Given the description of an element on the screen output the (x, y) to click on. 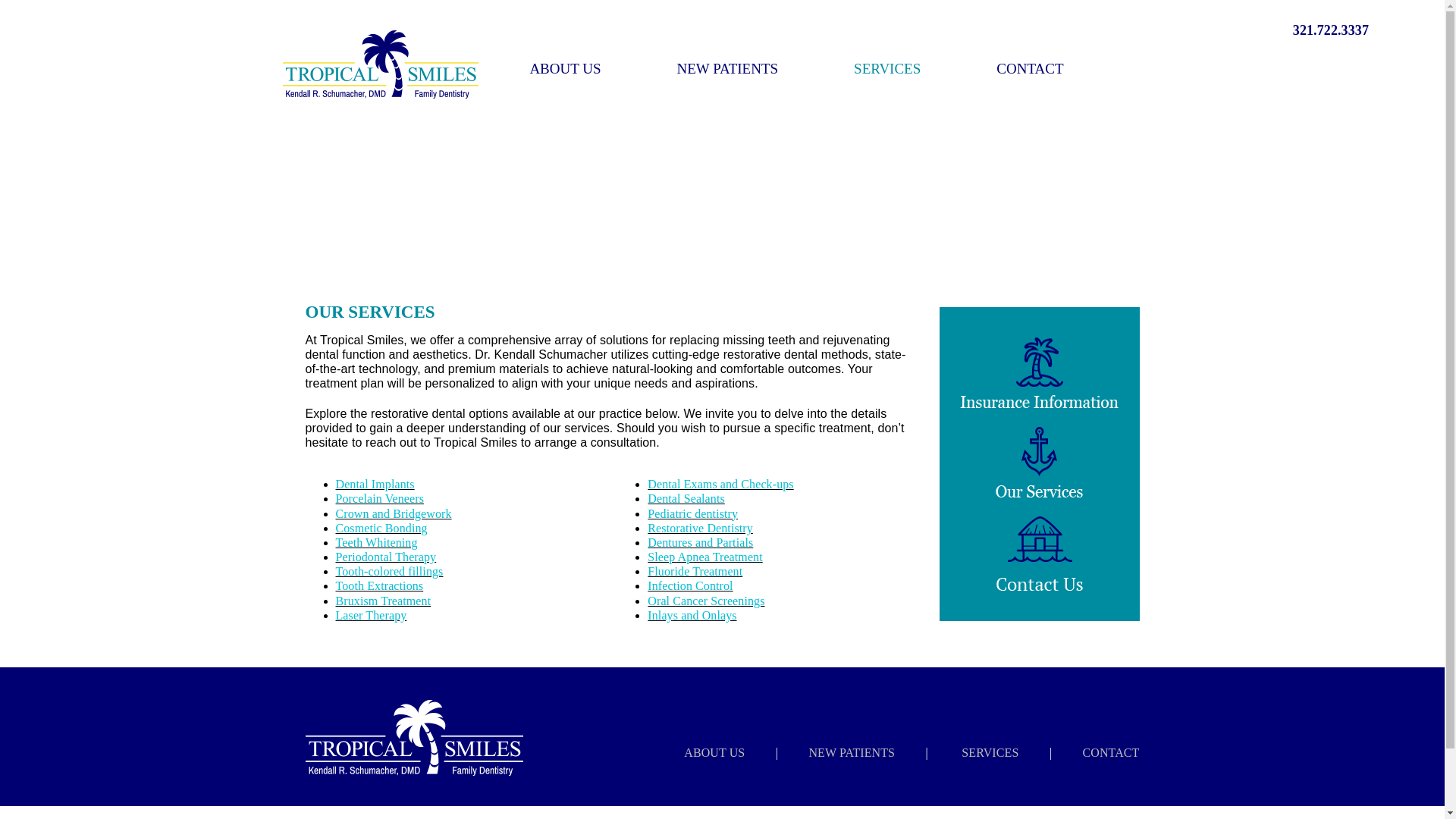
Tooth Extractions (378, 585)
Porcelain Veneers (378, 498)
Periodontal Therapy (384, 556)
Dental Exams and Check-ups (720, 483)
Teeth Whitening (375, 542)
321.722.3337 (1330, 29)
Cosmetic Bonding (380, 527)
Bruxism Treatment (382, 600)
NEW PATIENTS (727, 67)
Dental Implants (373, 483)
Crown and Bridgework (392, 512)
Laser Therapy (370, 615)
Tooth-colored fillings (388, 571)
